Given the description of an element on the screen output the (x, y) to click on. 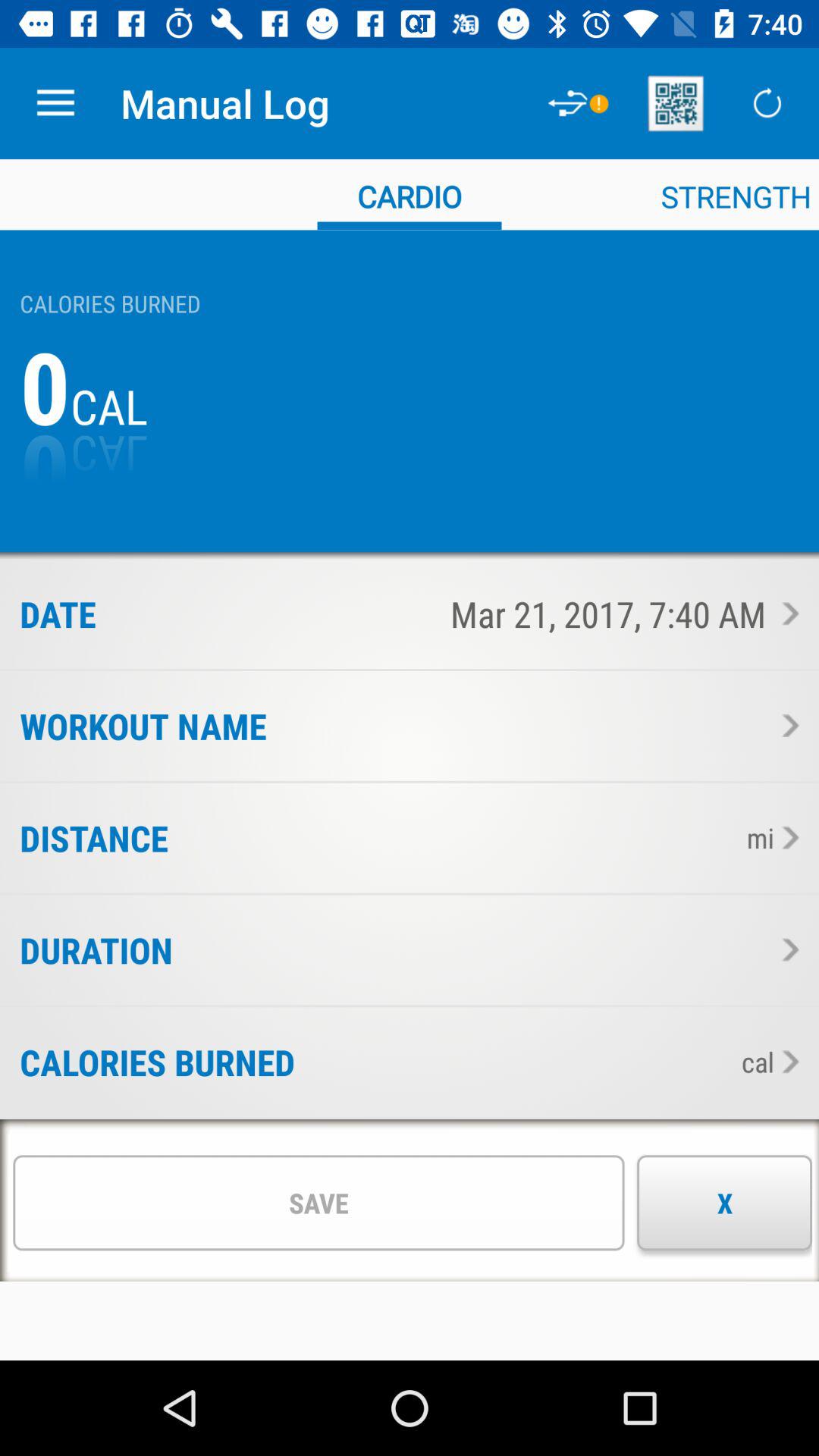
choose the mar 21 2017 icon (447, 613)
